Given the description of an element on the screen output the (x, y) to click on. 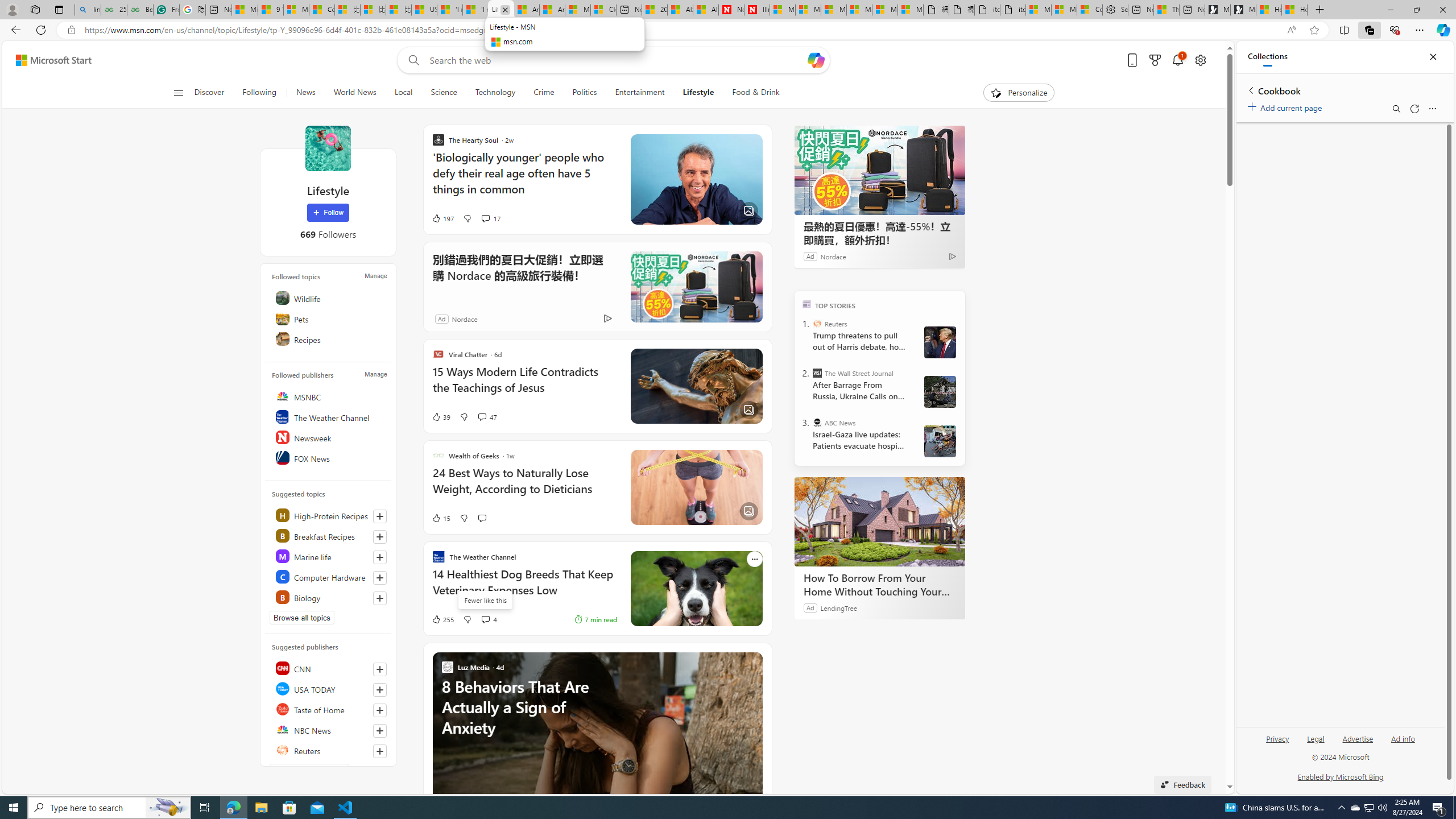
Open Copilot (815, 59)
Nordace (464, 318)
Crime (543, 92)
Ad info (1402, 742)
Dislike (466, 619)
Technology (495, 92)
Discover (208, 92)
View comments 17 Comment (485, 217)
Follow this topic (379, 598)
Enter your search term (617, 59)
Legal (1315, 742)
